Given the description of an element on the screen output the (x, y) to click on. 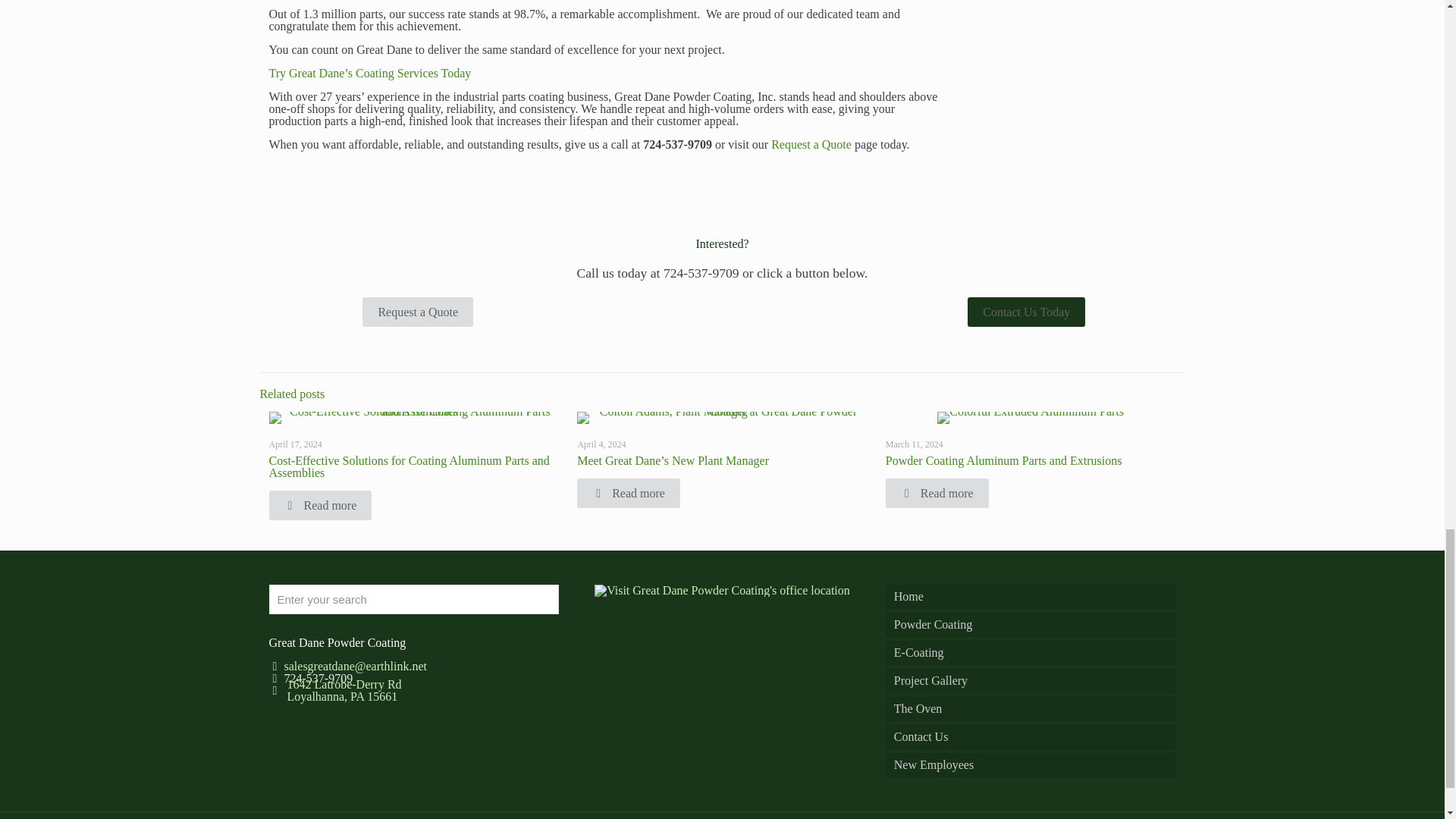
Request a Quote (811, 144)
Contact Us Today (1026, 311)
Request a Quote (417, 311)
Read more (627, 492)
Read more (319, 505)
